Given the description of an element on the screen output the (x, y) to click on. 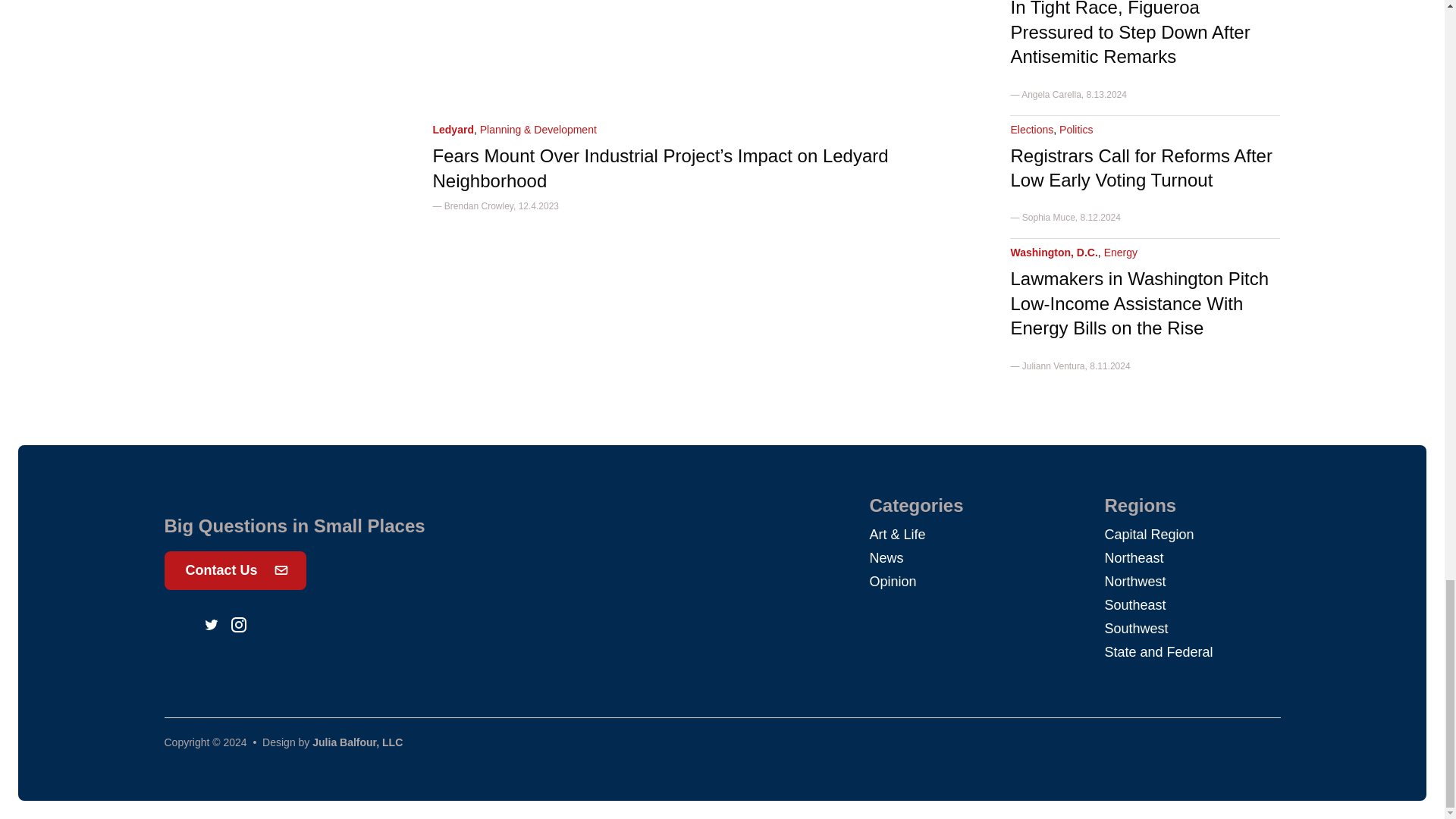
twitter (210, 624)
facebook (183, 624)
instagram (238, 624)
